Given the description of an element on the screen output the (x, y) to click on. 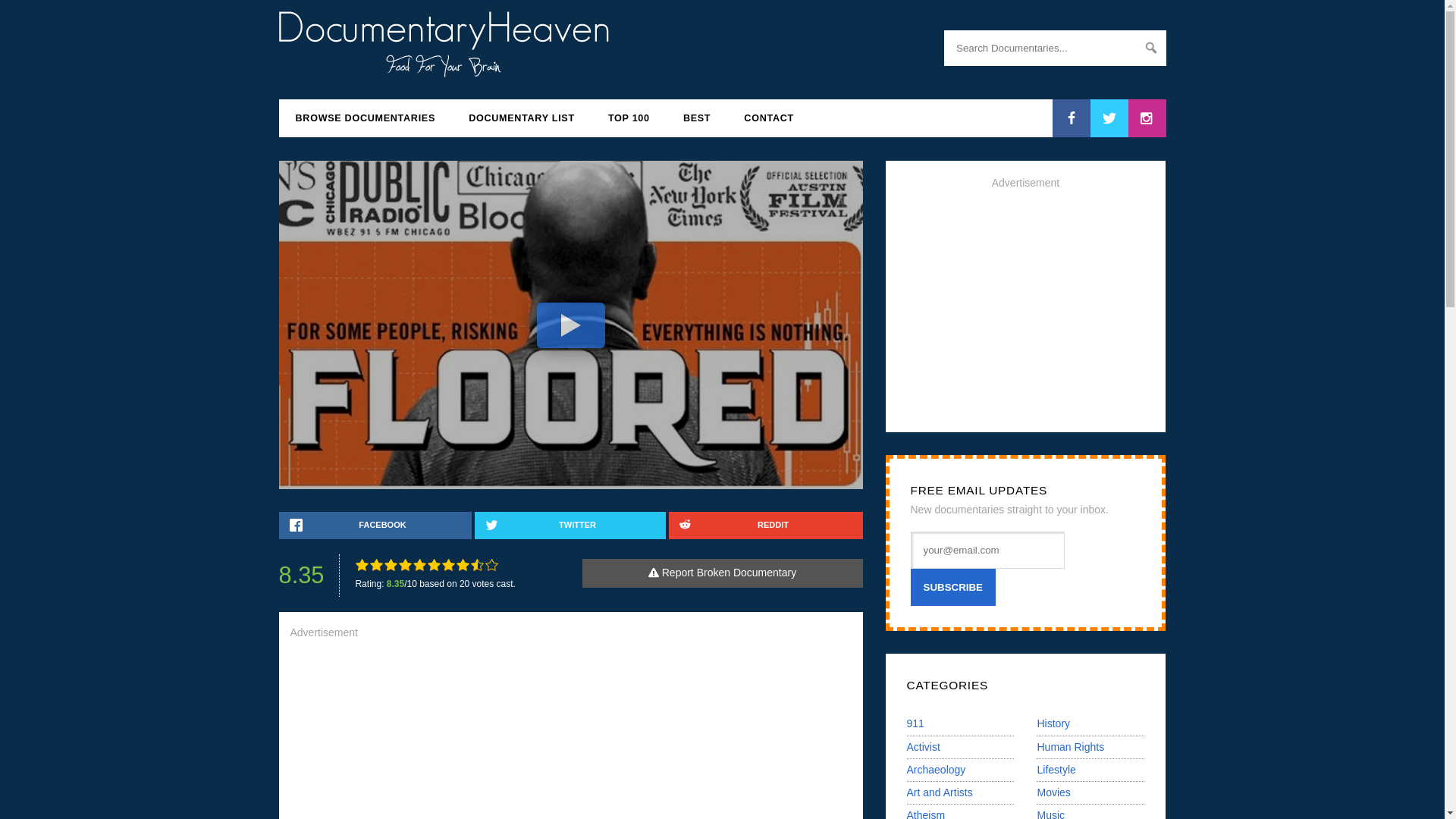
1 Star (361, 564)
4 Stars (405, 564)
Subscribe (952, 587)
Atheism (925, 814)
BEST (696, 118)
5 Stars (419, 564)
911 (915, 723)
Advertisement (569, 736)
Documentary Heaven (443, 67)
10 Stars (490, 564)
Subscribe (952, 587)
DOCUMENTARY LIST (521, 118)
6 Stars (434, 564)
Search for: (1054, 48)
3 Stars (390, 564)
